Given the description of an element on the screen output the (x, y) to click on. 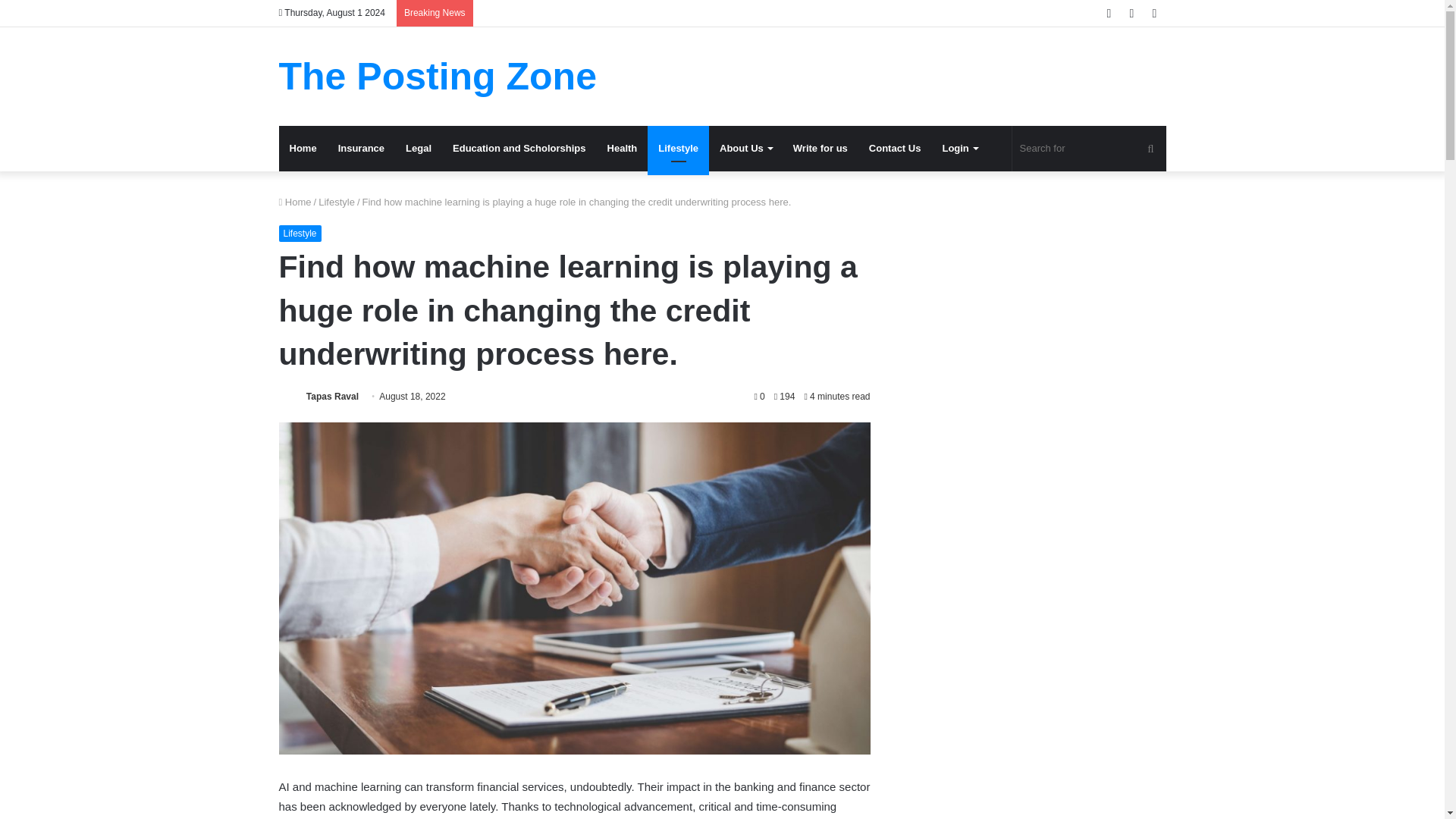
Write for us (821, 148)
The Posting Zone (437, 76)
Legal (418, 148)
Lifestyle (300, 233)
Lifestyle (336, 202)
Search for (1088, 148)
Education and Scholorships (519, 148)
Home (295, 202)
Home (303, 148)
Contact Us (895, 148)
